Given the description of an element on the screen output the (x, y) to click on. 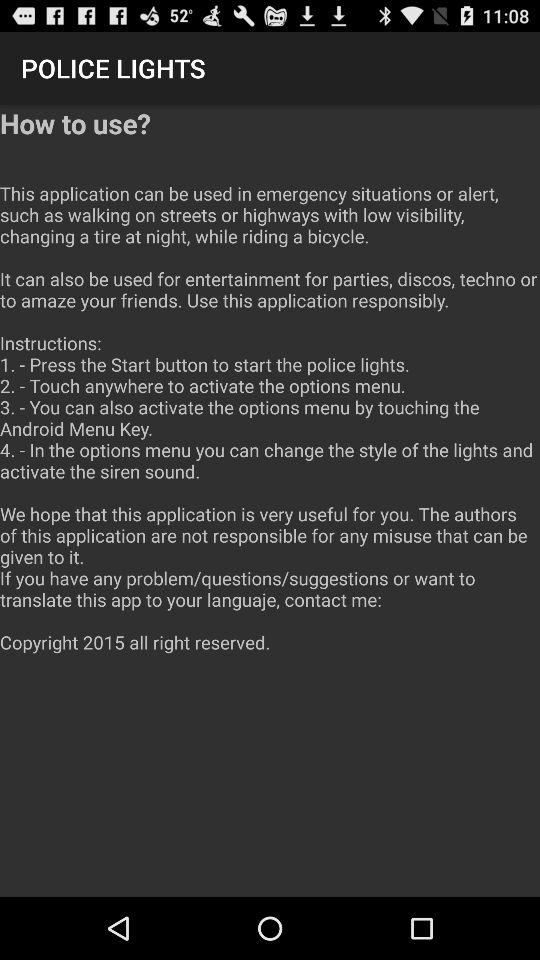
launch the app below police lights (270, 390)
